Given the description of an element on the screen output the (x, y) to click on. 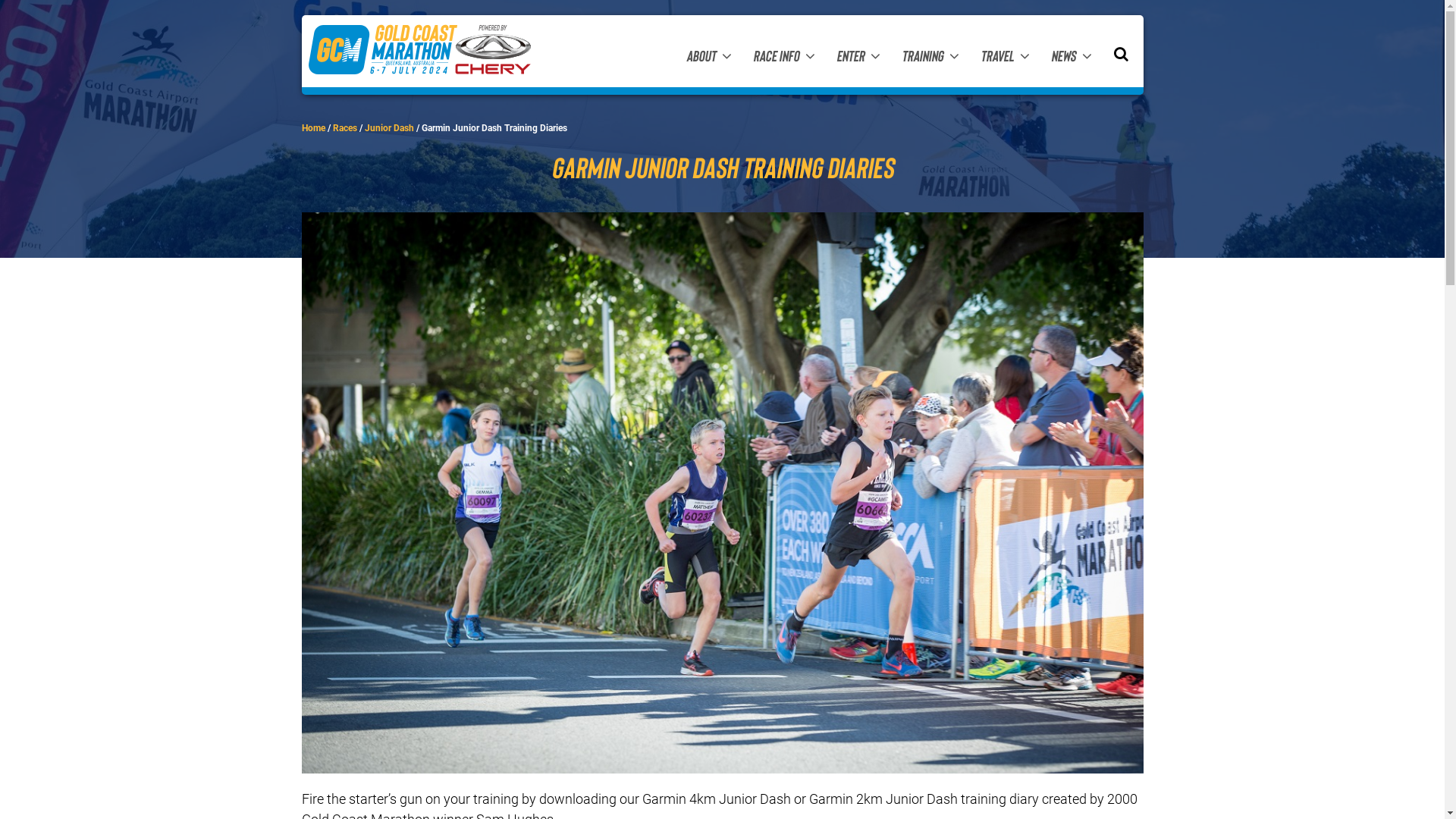
Home Element type: text (313, 127)
ENTER Element type: text (857, 54)
ABOUT Element type: text (707, 54)
Races Element type: text (344, 127)
TRAVEL Element type: text (1004, 54)
NEWS Element type: text (1071, 54)
TRAINING Element type: text (929, 54)
Junior Dash Element type: text (388, 127)
RACE INFO Element type: text (783, 54)
